Given the description of an element on the screen output the (x, y) to click on. 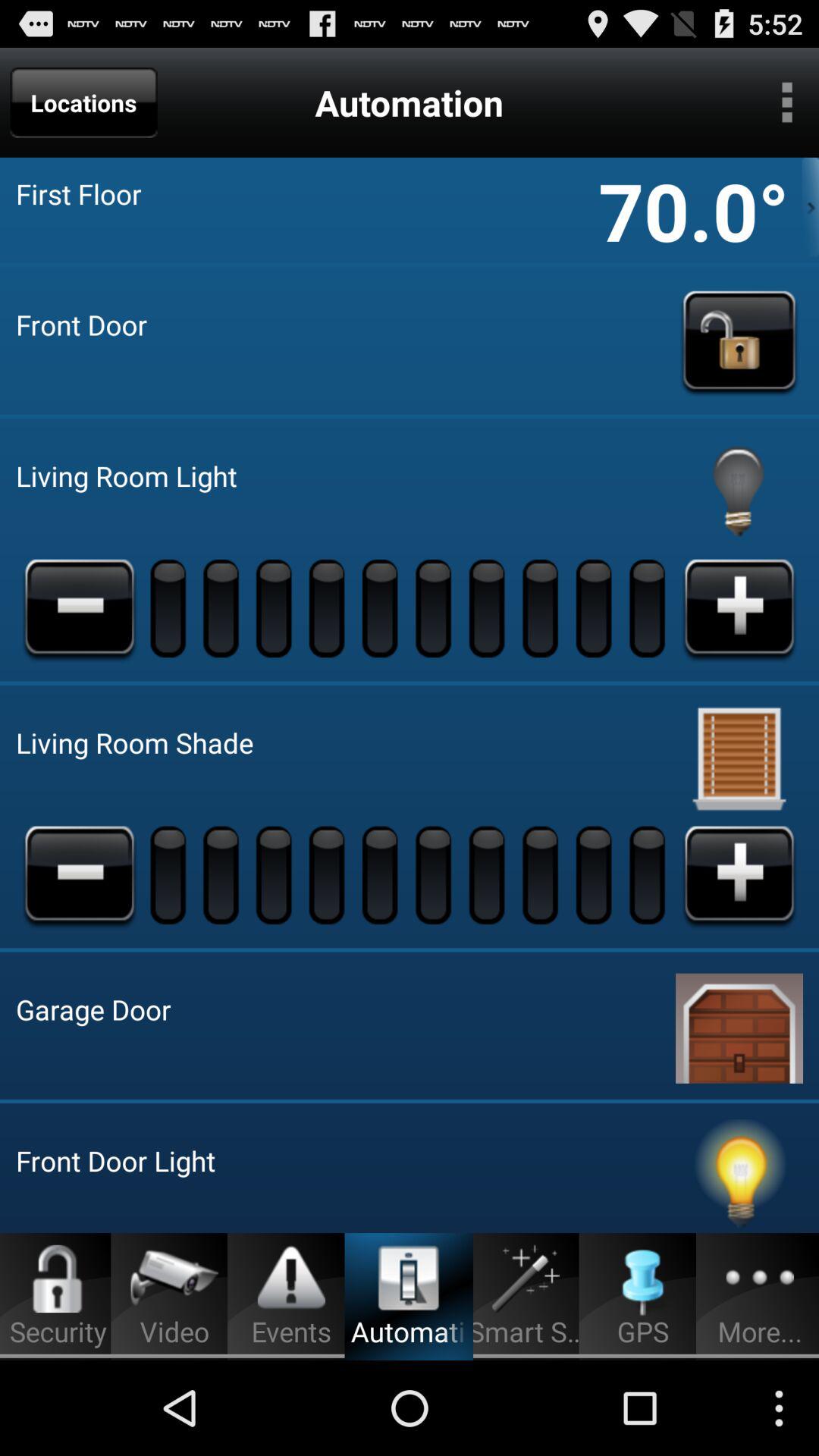
toggle locatoin add (739, 874)
